Given the description of an element on the screen output the (x, y) to click on. 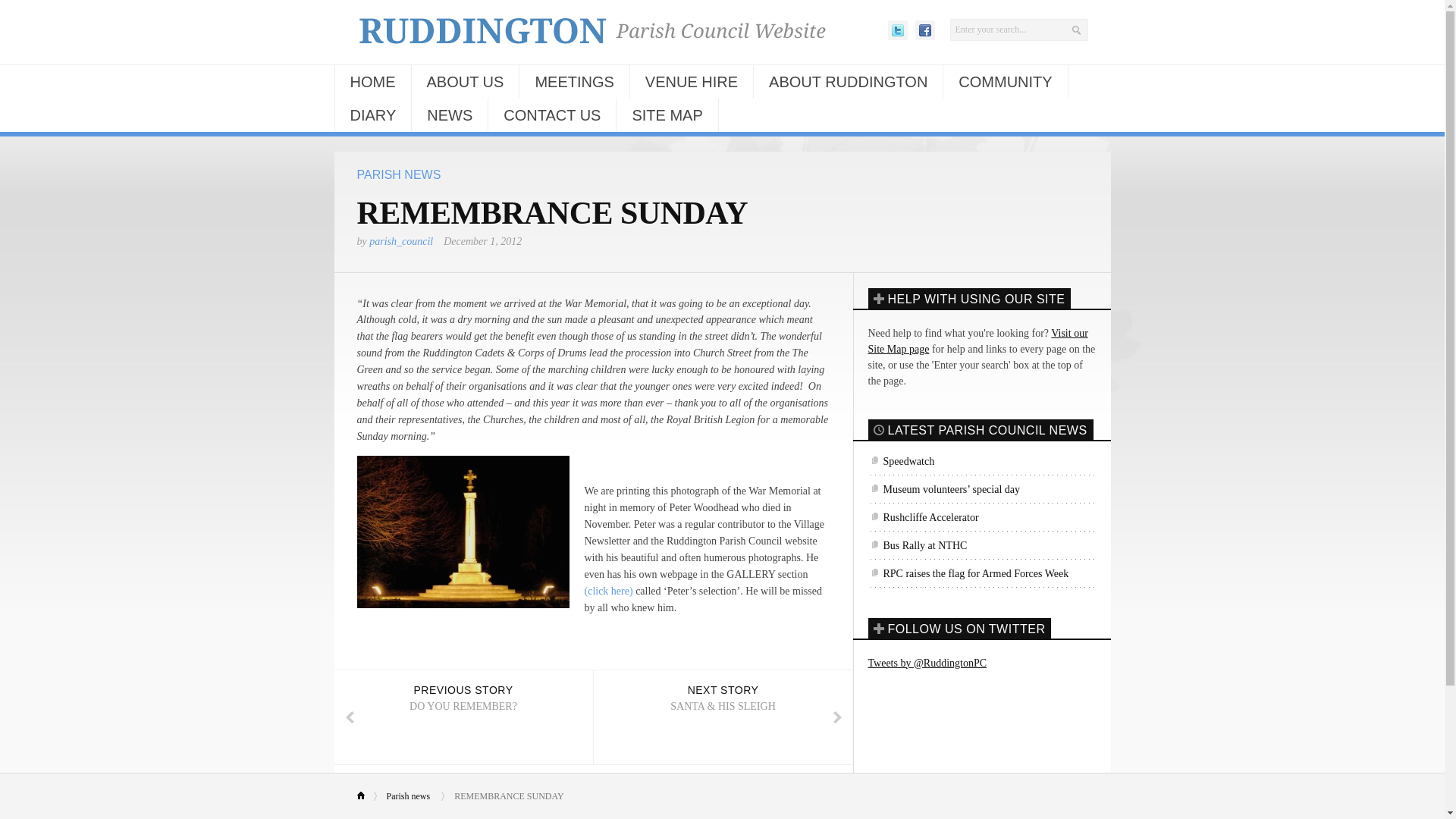
War Memorial (462, 531)
MEETINGS (573, 81)
ABOUT US (464, 81)
Site map (977, 340)
search (1018, 29)
VENUE HIRE (691, 81)
HOME (372, 81)
Enter your search... (1018, 29)
